Given the description of an element on the screen output the (x, y) to click on. 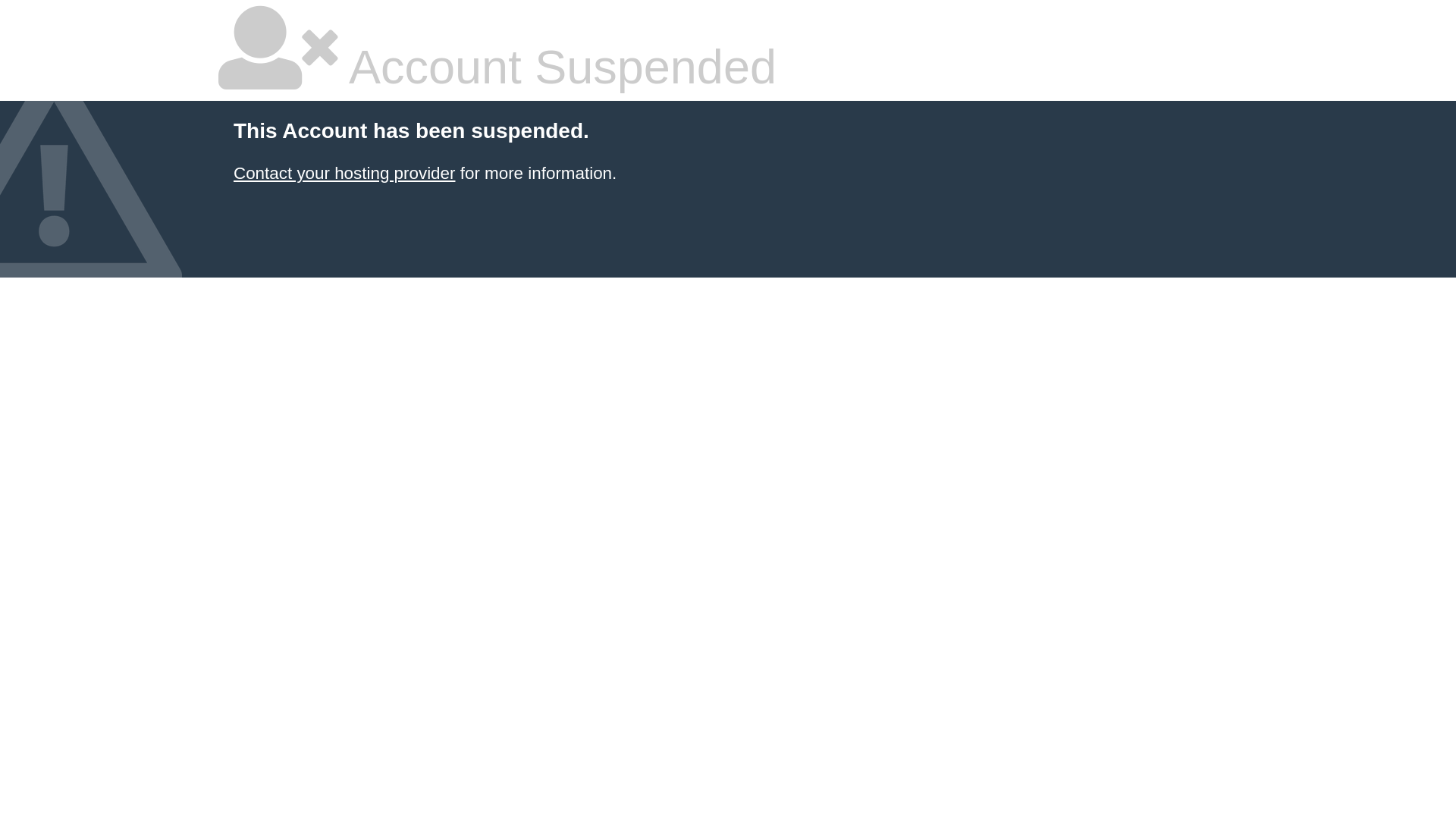
Contact your hosting provider Element type: text (344, 172)
